Given the description of an element on the screen output the (x, y) to click on. 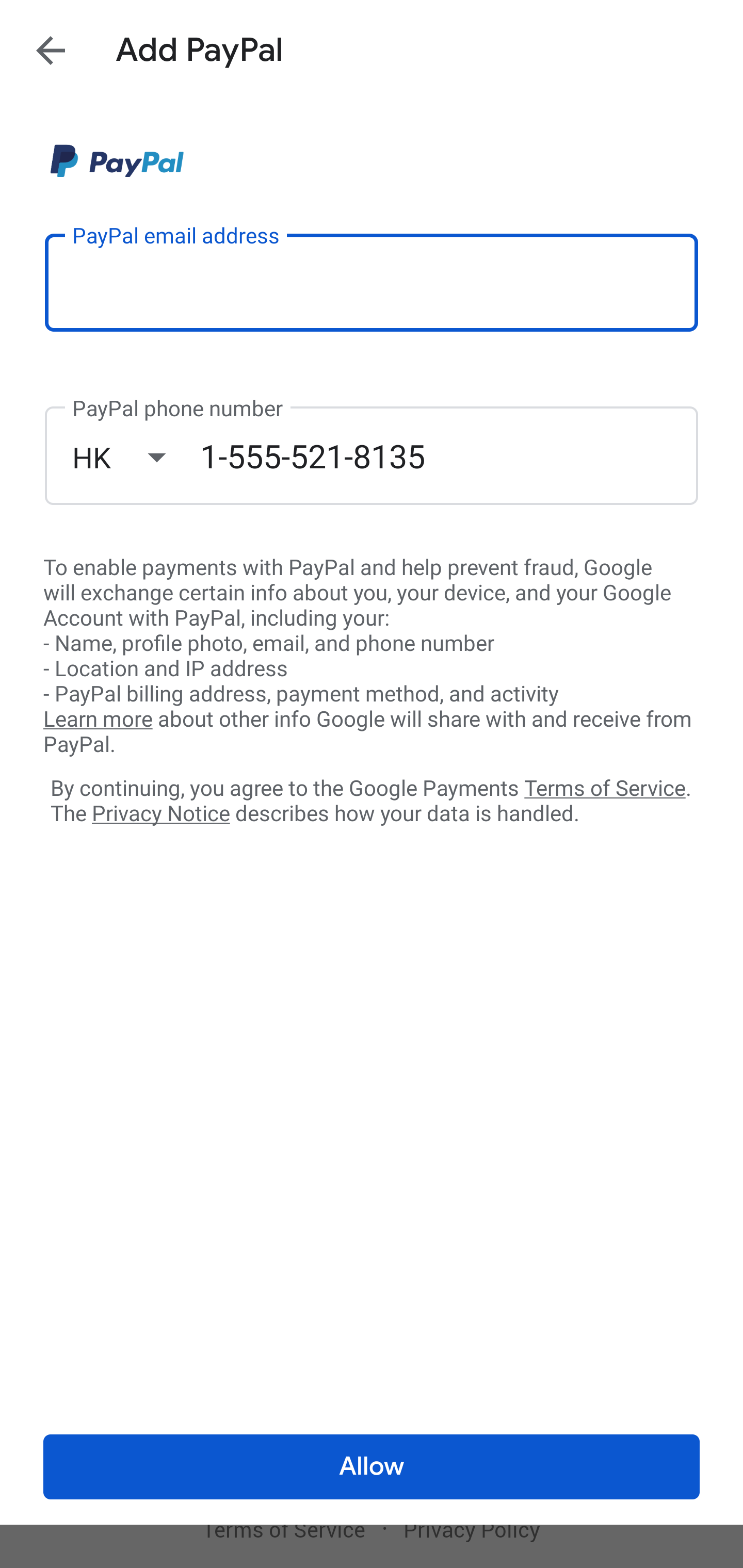
Navigate up (50, 50)
PayPal email address (371, 282)
HK (135, 456)
Learn more (97, 719)
Terms of Service (604, 787)
Privacy Notice (160, 814)
Allow (371, 1466)
